Given the description of an element on the screen output the (x, y) to click on. 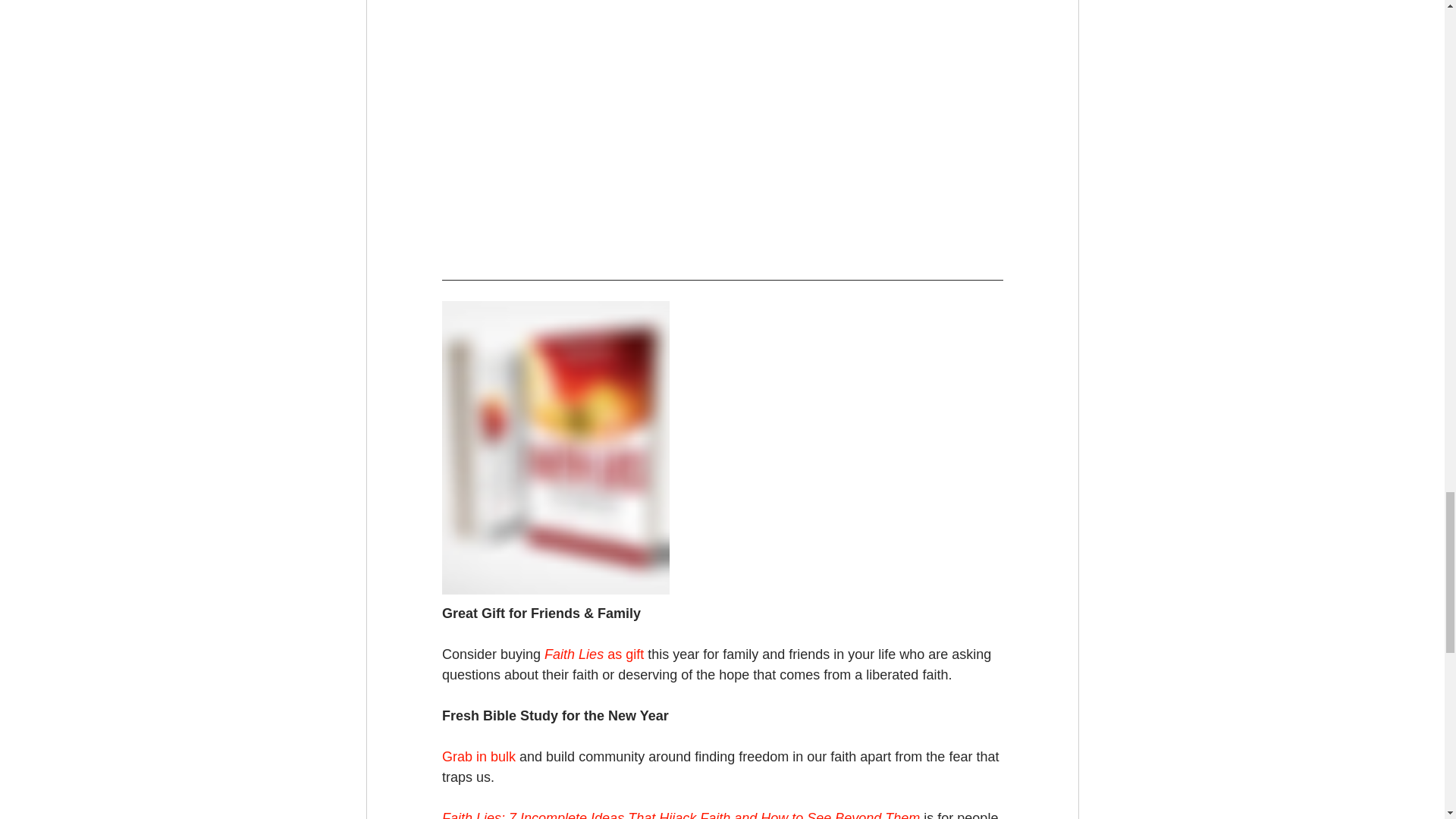
 as gift (623, 654)
Faith Lies (574, 654)
Grab in bulk (478, 756)
